Given the description of an element on the screen output the (x, y) to click on. 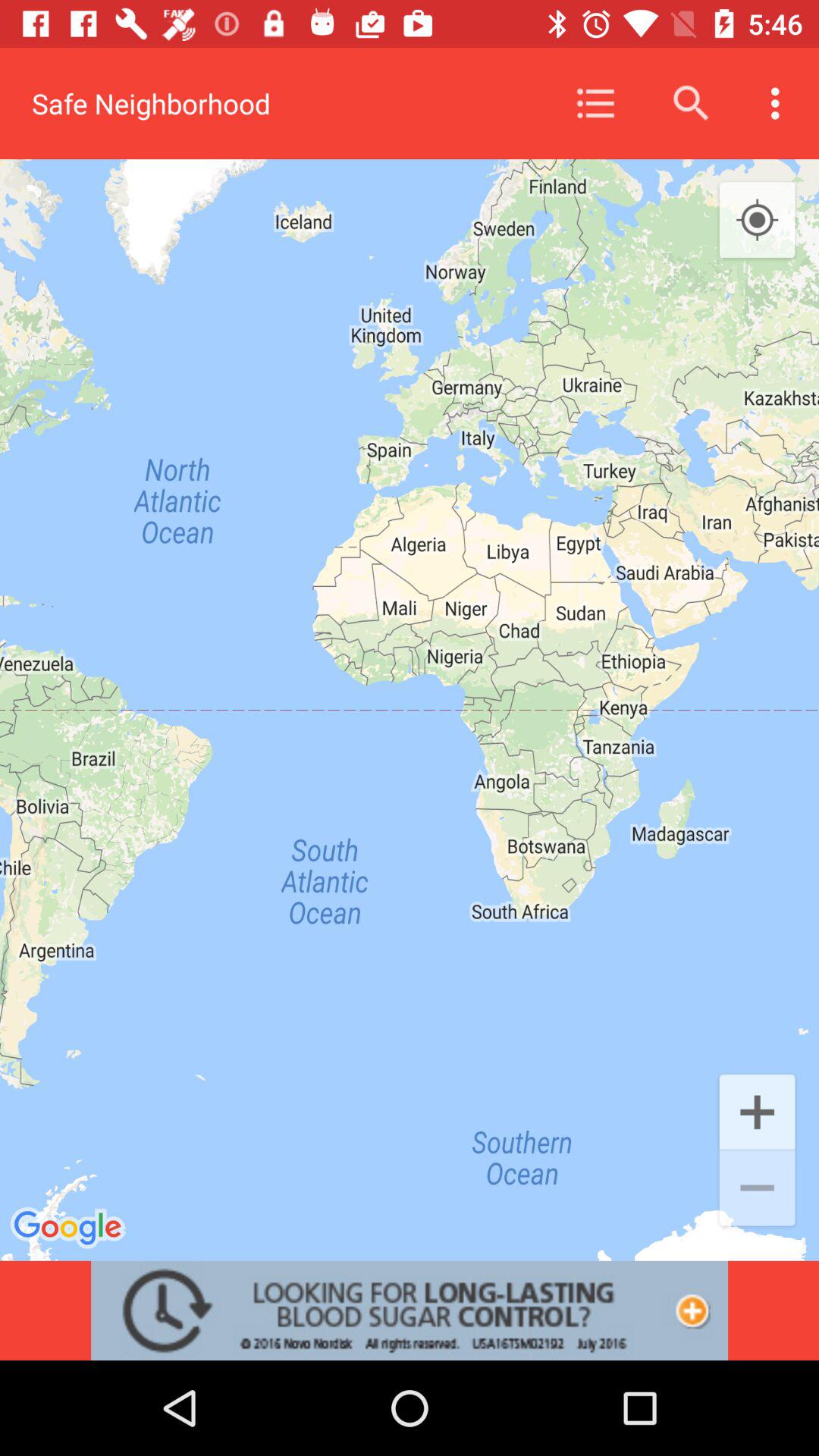
advertising (409, 1310)
